Given the description of an element on the screen output the (x, y) to click on. 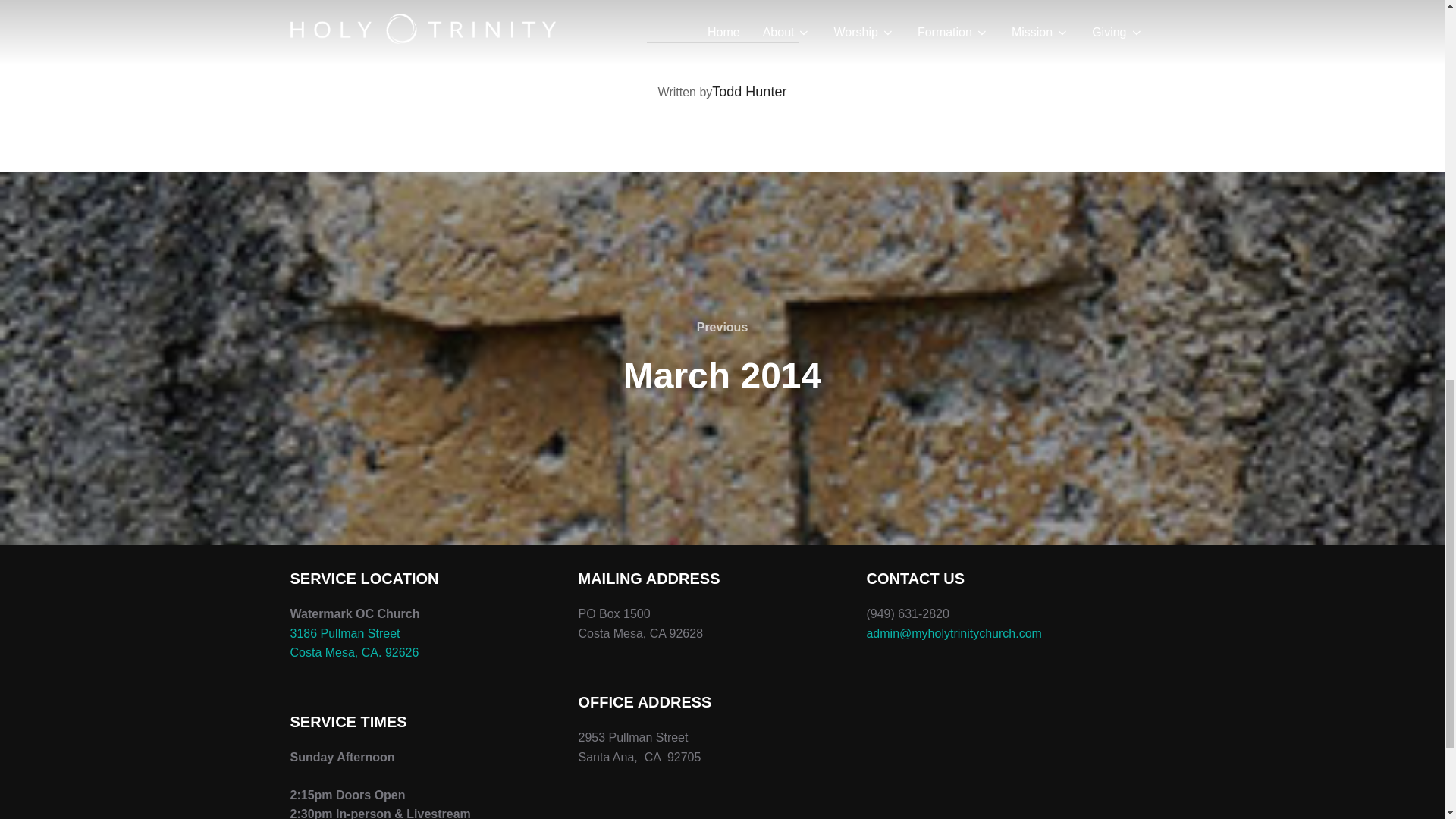
Posts by Todd Hunter (748, 91)
